Given the description of an element on the screen output the (x, y) to click on. 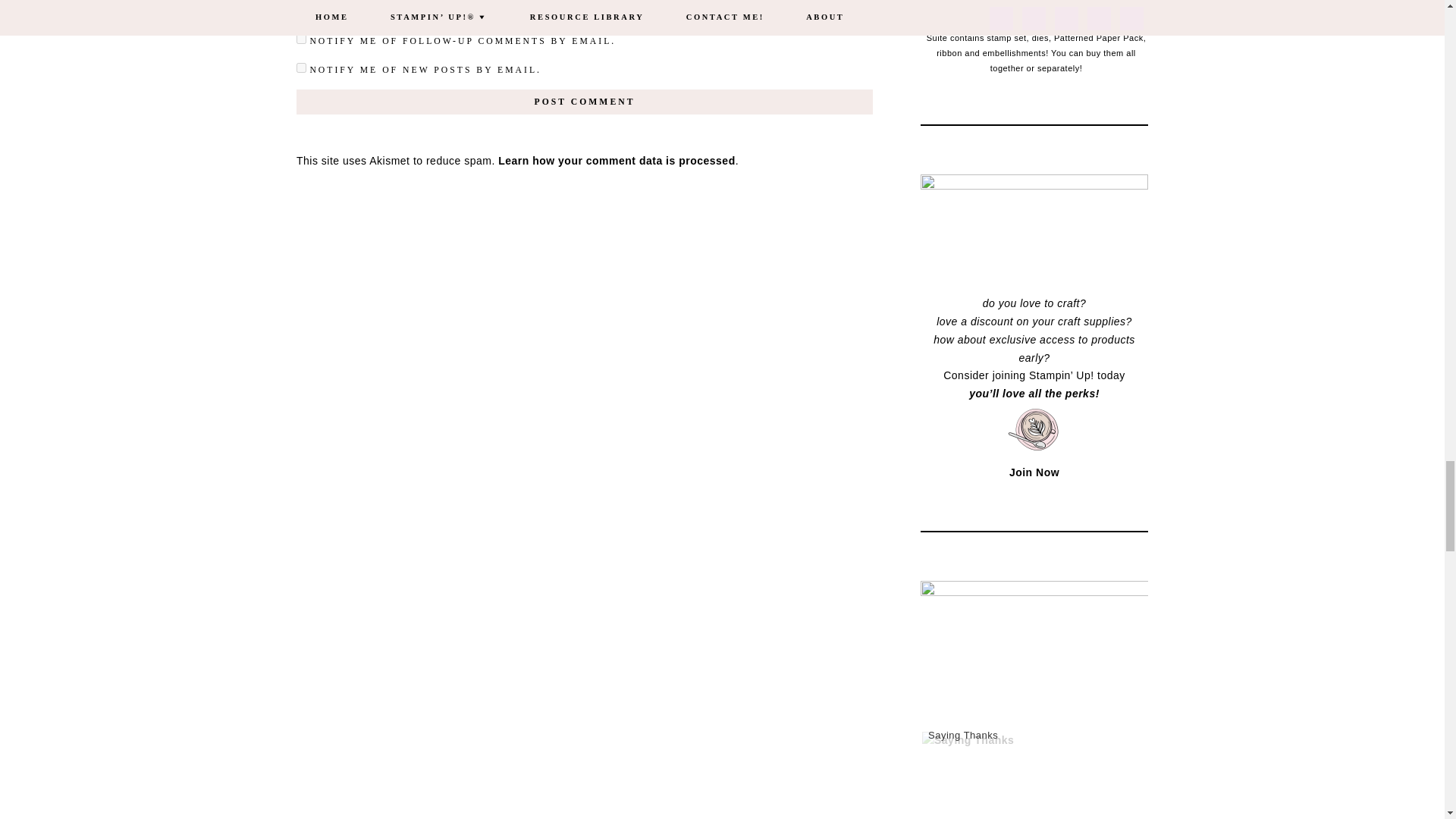
subscribe (301, 67)
subscribe (301, 39)
Post Comment (584, 101)
